Given the description of an element on the screen output the (x, y) to click on. 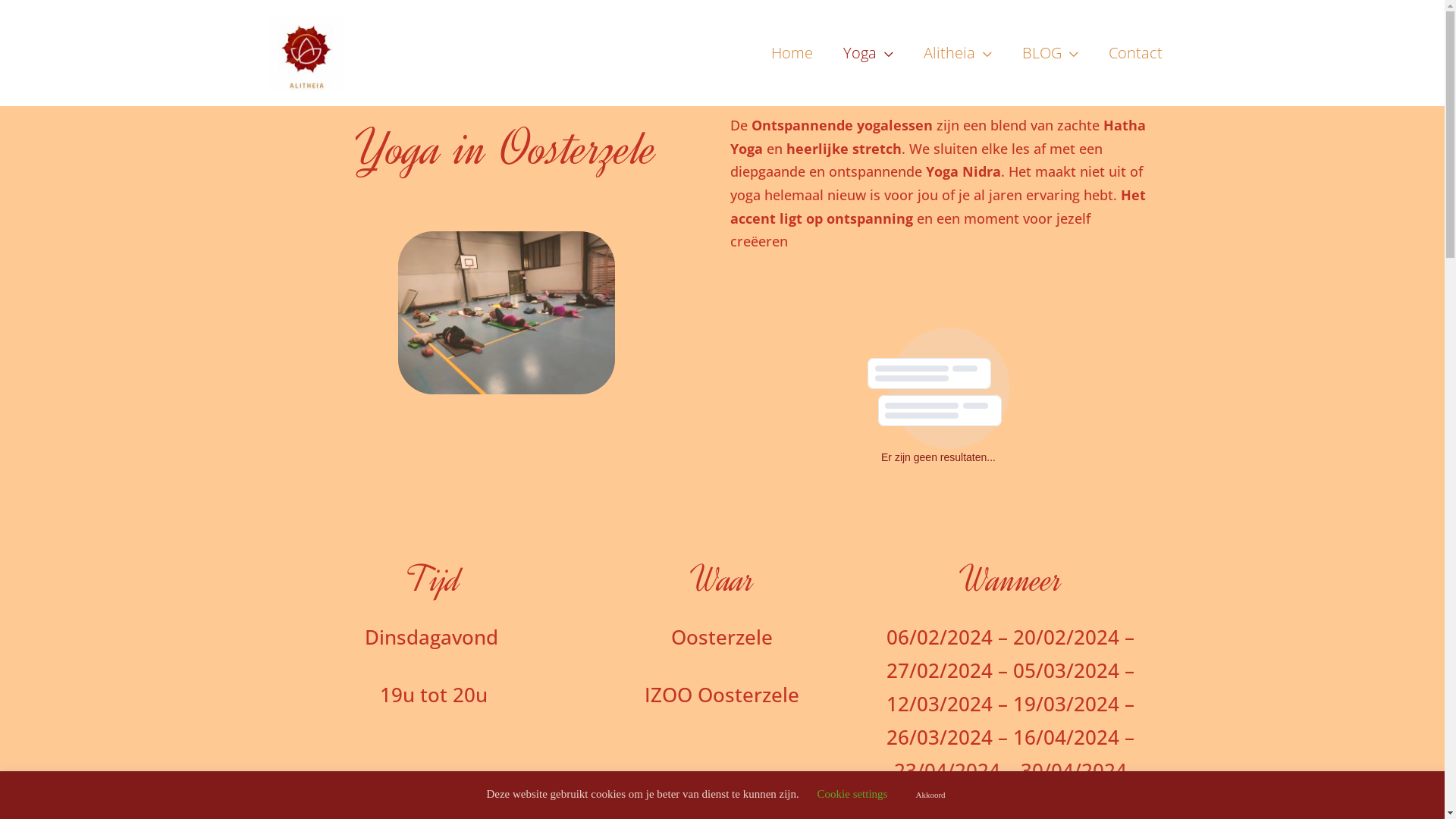
Cookie settings Element type: text (852, 793)
Akkoord Element type: text (929, 795)
BLOG Element type: text (1050, 52)
Alitheia Element type: text (957, 52)
Home Element type: text (791, 52)
Yoga Element type: text (868, 52)
Contact Element type: text (1135, 52)
